Given the description of an element on the screen output the (x, y) to click on. 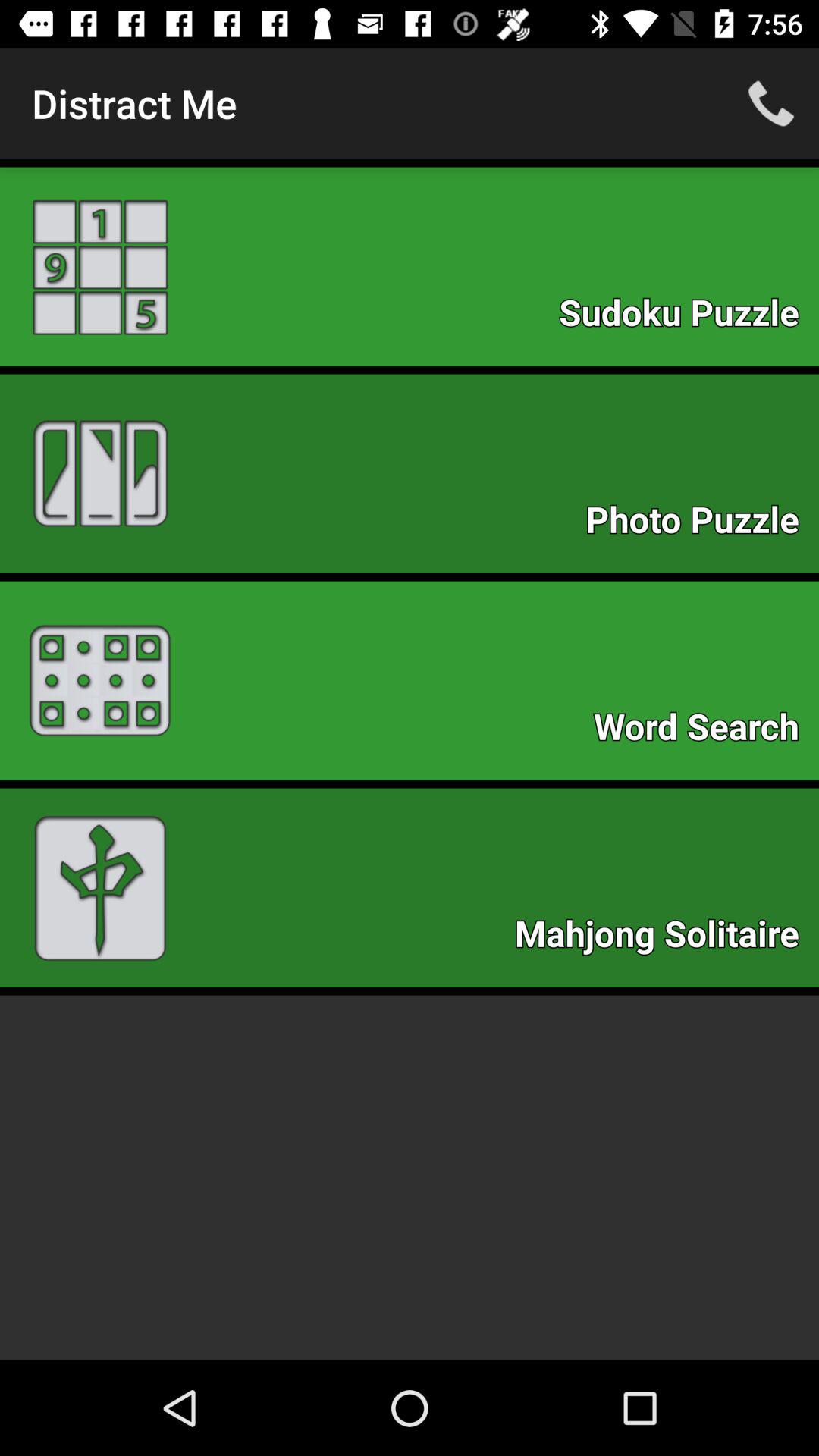
launch mahjong solitaire item (664, 937)
